Given the description of an element on the screen output the (x, y) to click on. 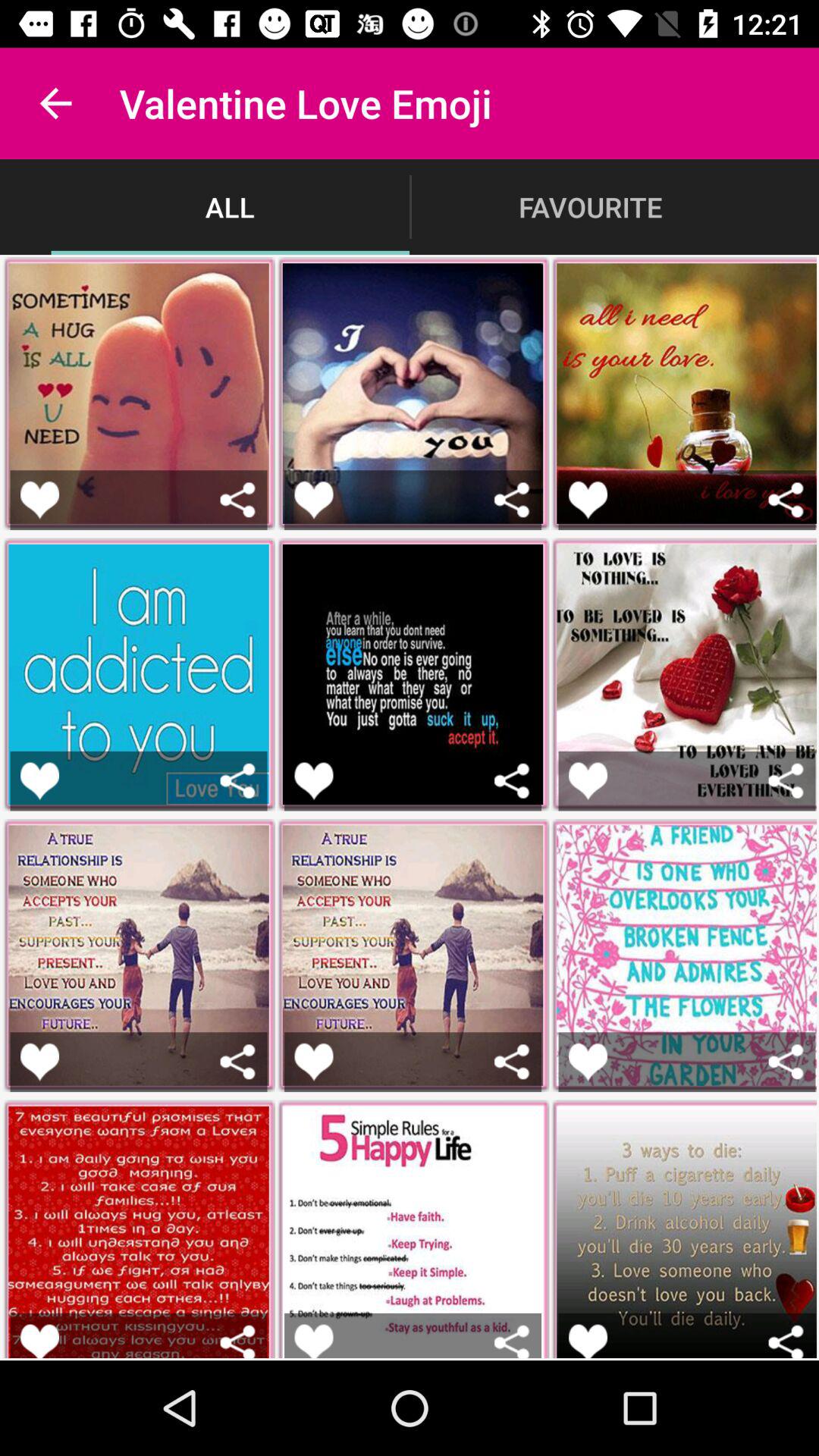
share the picture (237, 1061)
